Given the description of an element on the screen output the (x, y) to click on. 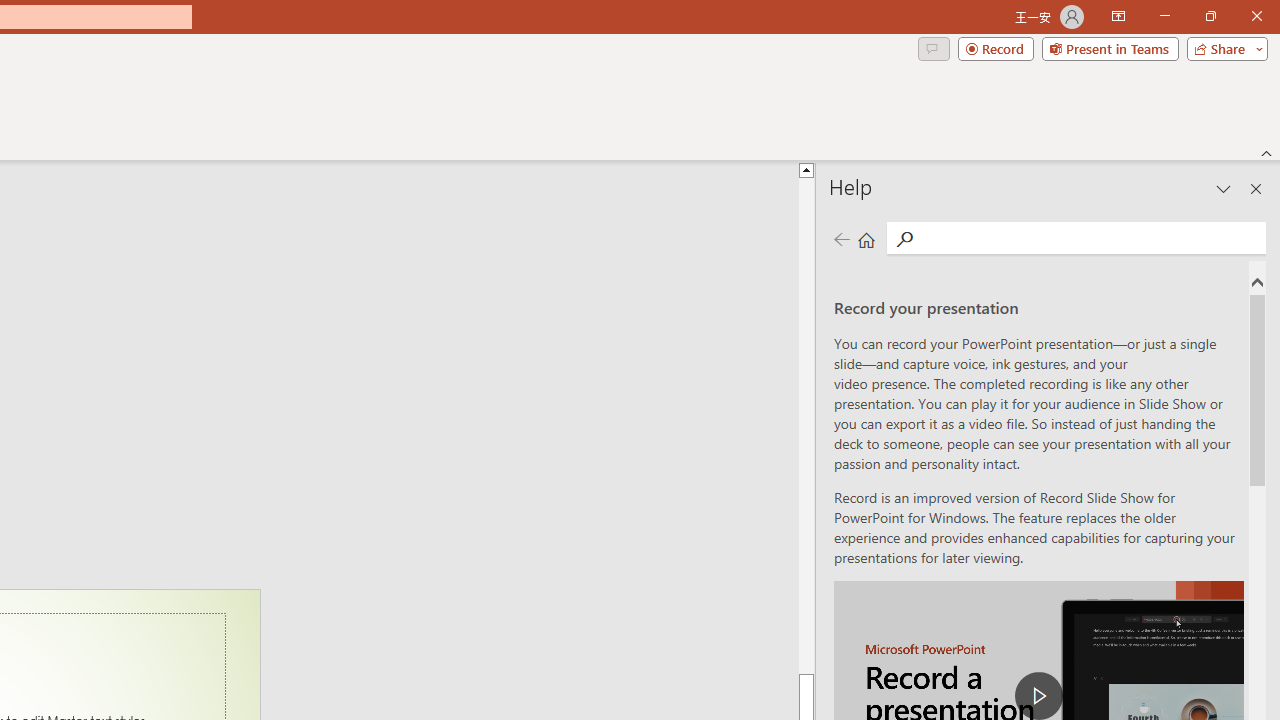
play Record a Presentation (1038, 695)
Page up (806, 425)
